Given the description of an element on the screen output the (x, y) to click on. 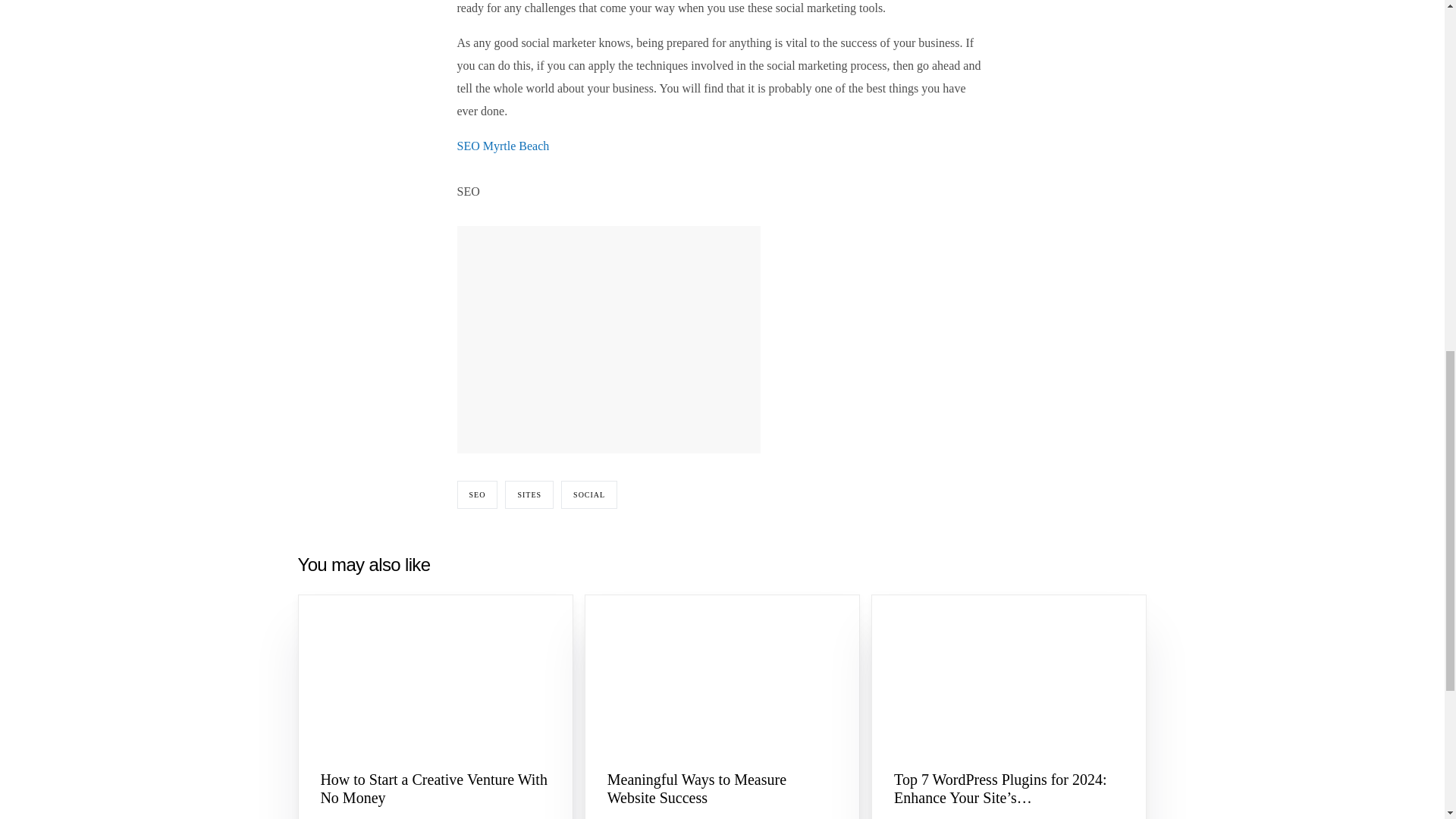
SEO (477, 494)
 View Post: How to Start a Creative Venture With No Money (435, 673)
How to Start a Creative Venture With No Money (435, 788)
View Post: Meaningful Ways to Measure Website Success  (722, 788)
View Post: How to Start a Creative Venture With No Money  (435, 788)
SOCIAL (588, 494)
SITES (529, 494)
 View Post: Meaningful Ways to Measure Website Success (722, 673)
SEO Myrtle Beach (502, 145)
